Given the description of an element on the screen output the (x, y) to click on. 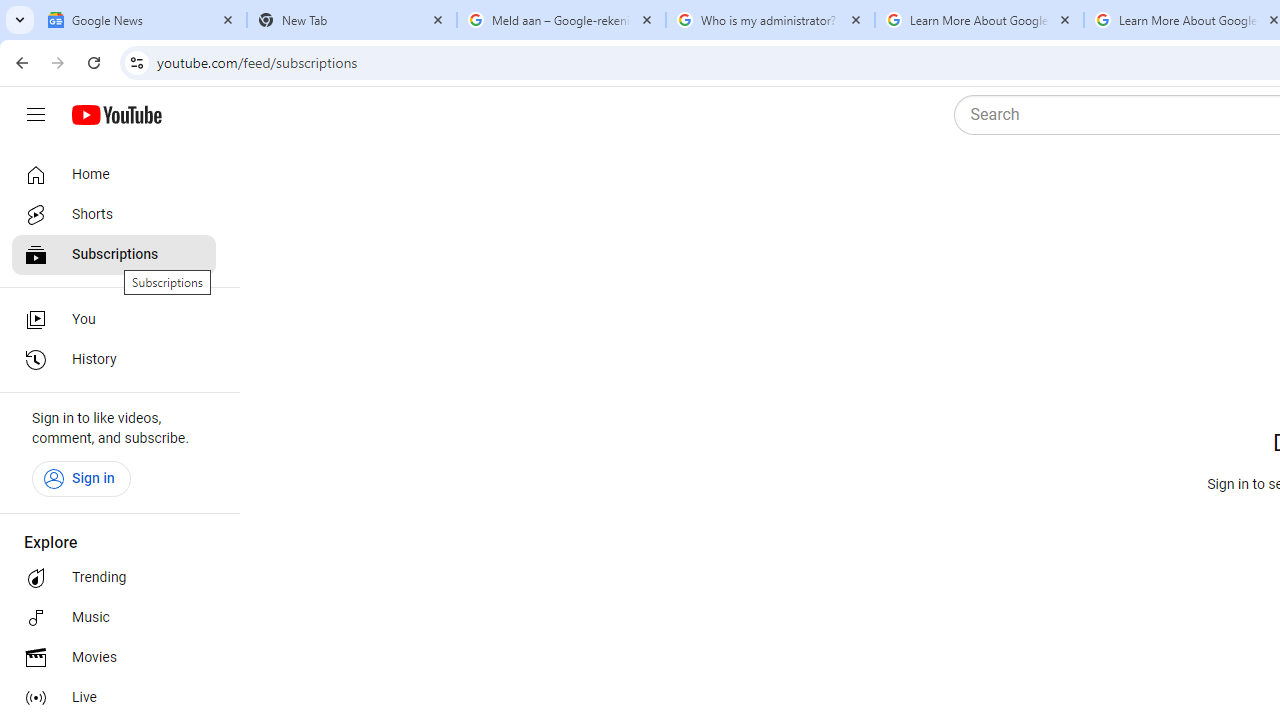
Repeat Accessibility Checker (341, 31)
